Given the description of an element on the screen output the (x, y) to click on. 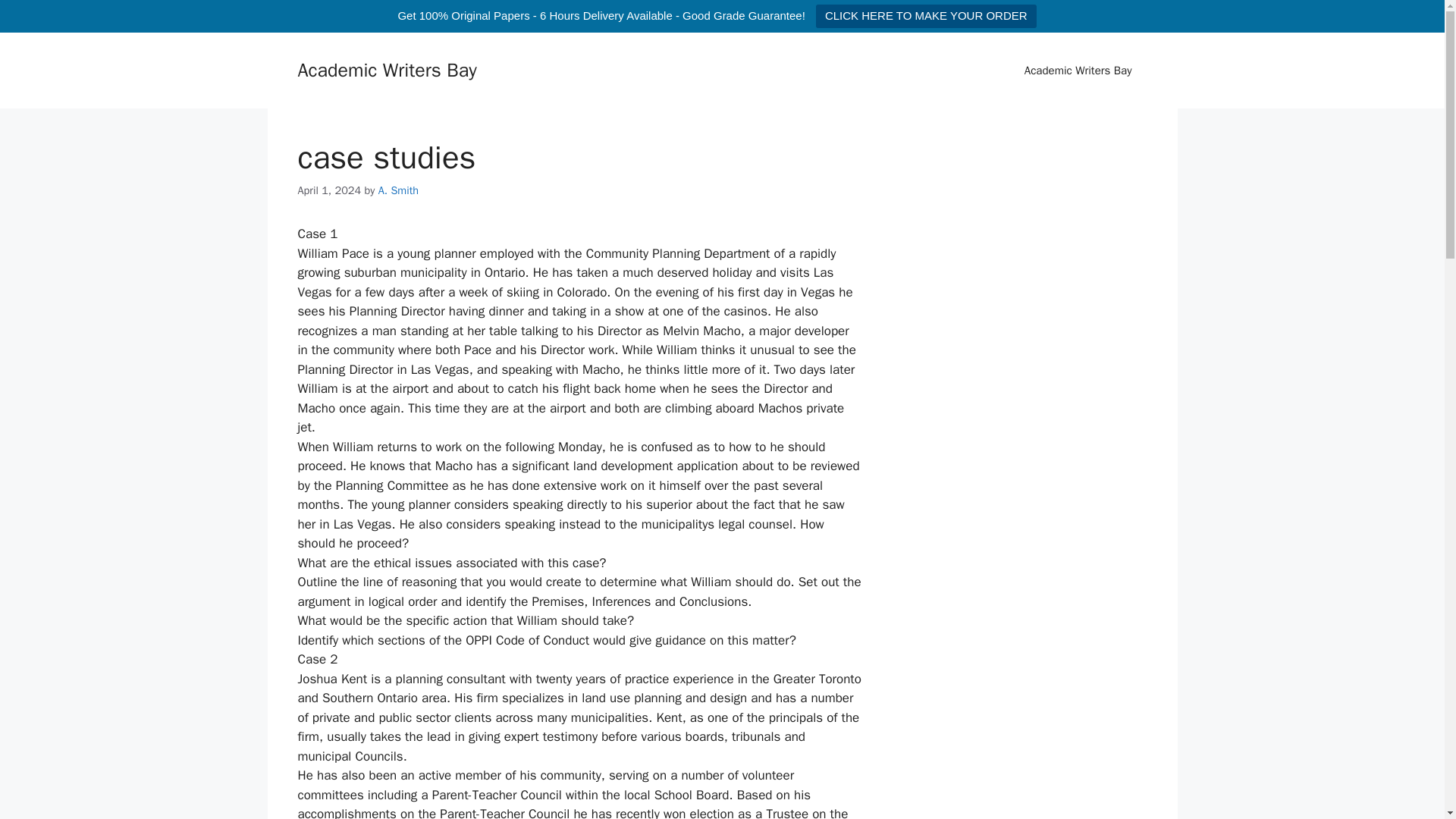
A. Smith (398, 190)
CLICK HERE TO MAKE YOUR ORDER (925, 15)
View all posts by A. Smith (398, 190)
Academic Writers Bay (386, 69)
Academic Writers Bay (1078, 70)
